Given the description of an element on the screen output the (x, y) to click on. 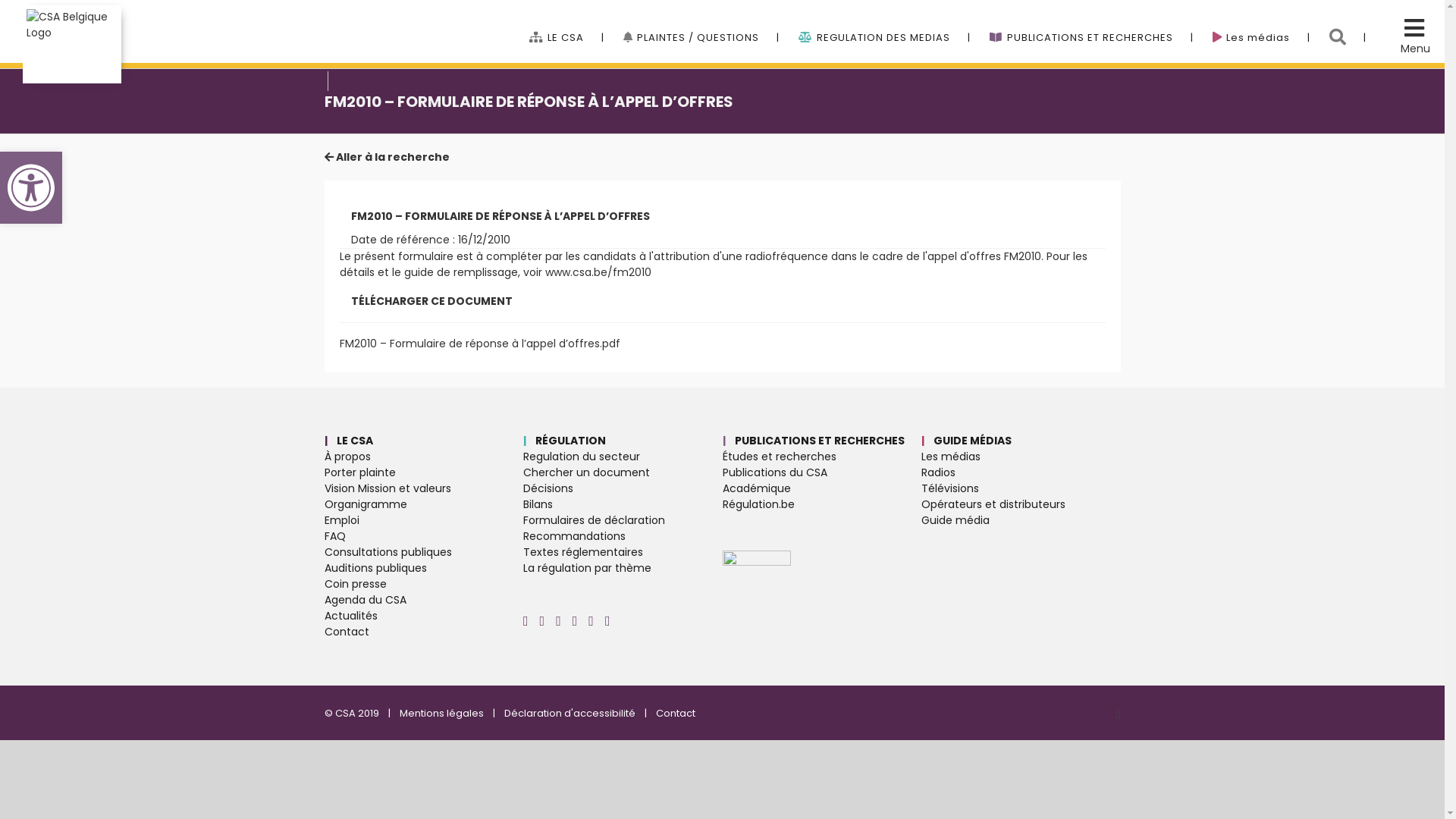
Recommandations Element type: text (622, 536)
Bouton de recherche Element type: hover (1347, 22)
FAQ Element type: text (424, 536)
Organigramme Element type: text (424, 504)
Porter plainte Element type: text (424, 472)
Vimeo Element type: hover (574, 620)
Contact Element type: text (674, 713)
Vision Mission et valeurs Element type: text (424, 488)
Coin presse Element type: text (424, 584)
Facebook Element type: hover (542, 620)
Consultations publiques Element type: text (424, 552)
Chercher un document Element type: text (622, 472)
Mail Element type: hover (607, 620)
Auditions publiques Element type: text (424, 568)
Twitter Element type: hover (558, 620)
Publications du CSA Element type: text (821, 472)
LinkedIn Element type: hover (590, 620)
Menu Element type: text (1415, 48)
Instagram Element type: hover (525, 620)
REGULATION DES MEDIAS Element type: text (884, 22)
Radios Element type: text (1020, 472)
PLAINTES / QUESTIONS Element type: text (701, 22)
Agenda du CSA Element type: text (424, 600)
www.csa.be/fm2010 Element type: text (597, 271)
Regulation du secteur Element type: text (622, 456)
Instagram Element type: text (1118, 714)
Emploi Element type: text (424, 520)
PUBLICATIONS ET RECHERCHES Element type: text (1090, 22)
Skip to content Element type: text (0, 0)
Menu Cache Element type: hover (1412, 32)
Bilans Element type: text (622, 504)
LE CSA Element type: text (566, 22)
Contact Element type: text (424, 632)
